Given the description of an element on the screen output the (x, y) to click on. 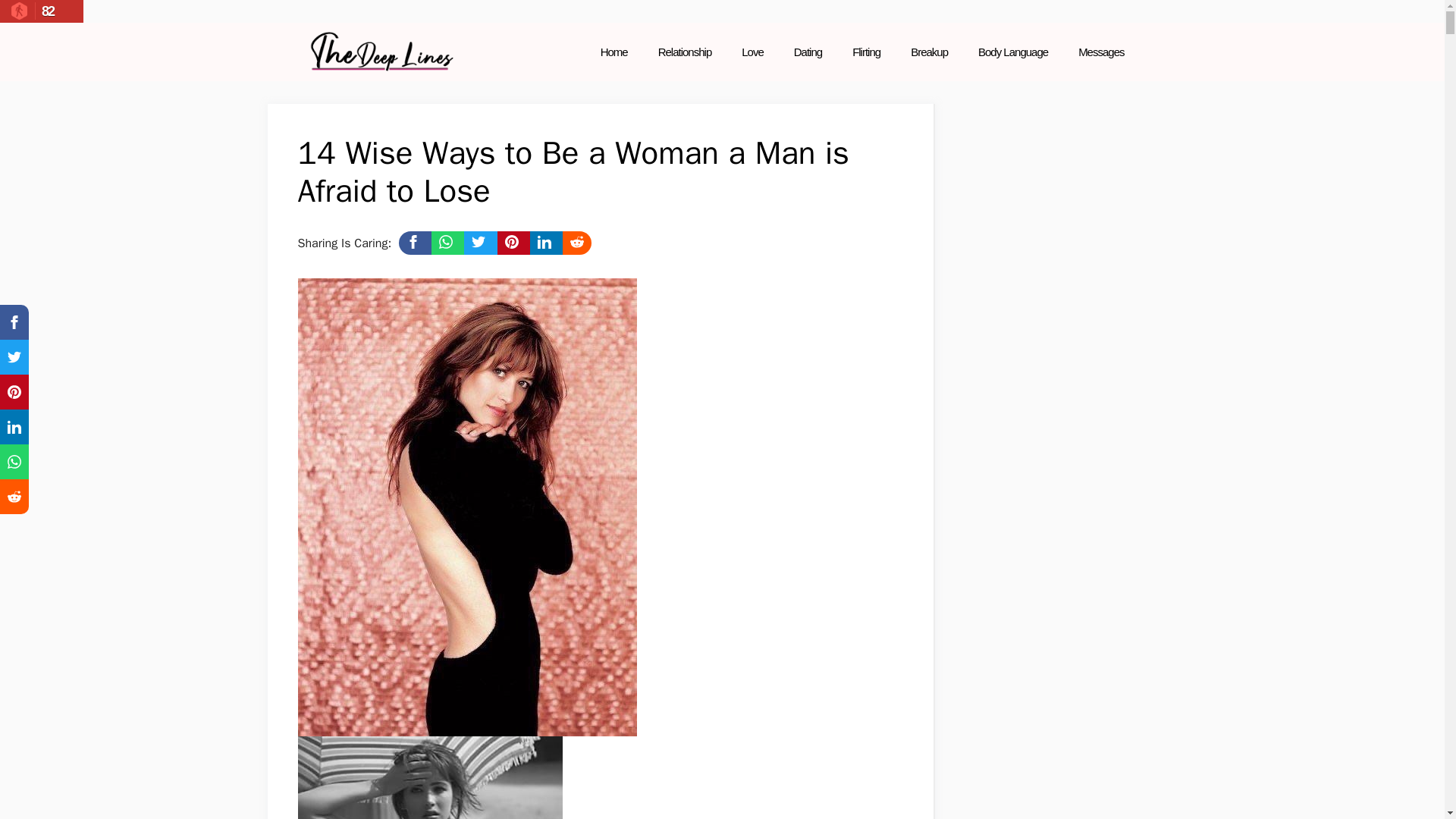
Messages (1100, 51)
Click to see what's popular on this site! (41, 11)
Love (752, 51)
Relationship (684, 51)
Dating (807, 51)
Body Language (1012, 51)
Home (614, 51)
Flirting (866, 51)
Breakup (928, 51)
82 (41, 11)
